Given the description of an element on the screen output the (x, y) to click on. 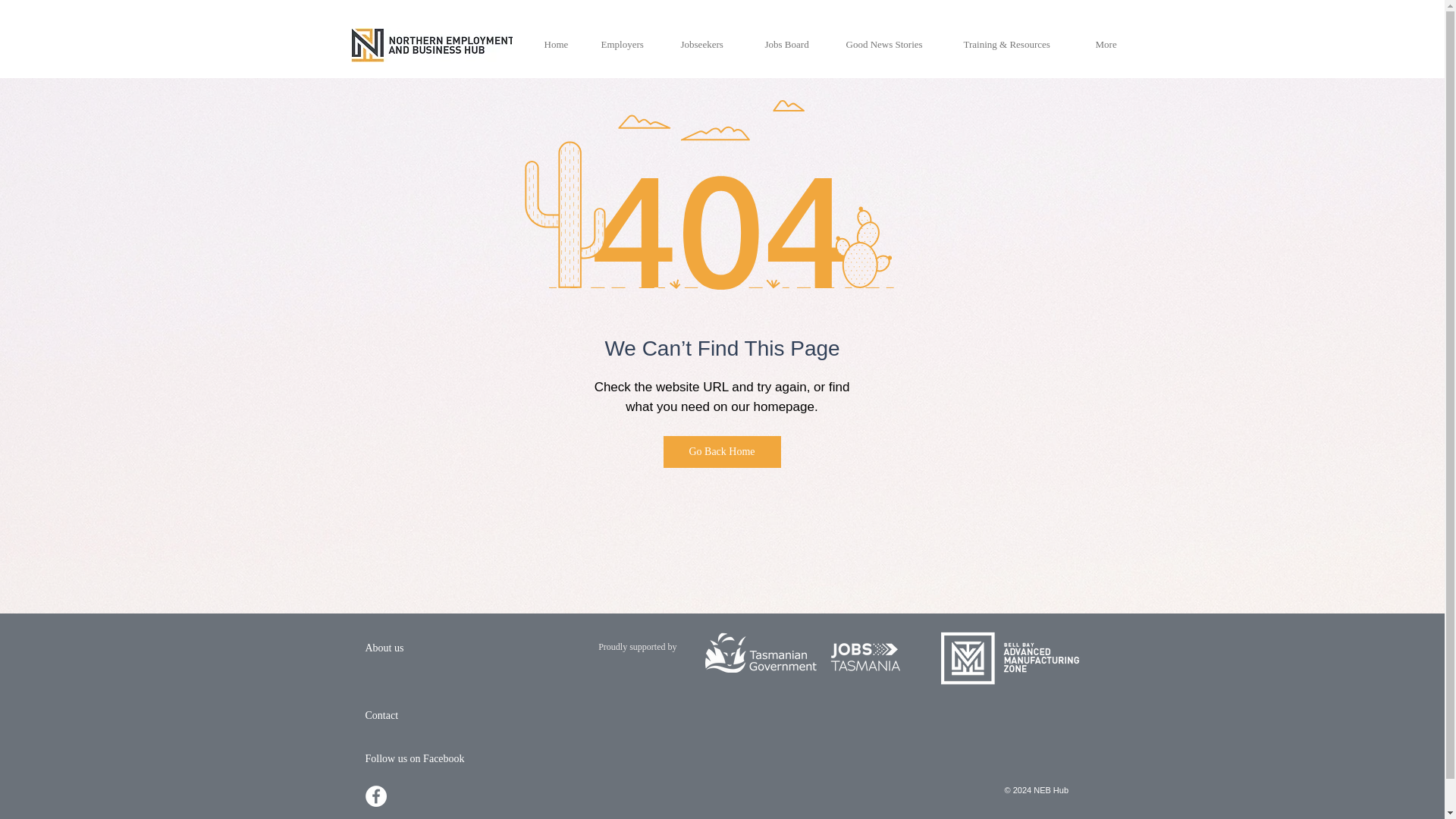
Jobseekers (710, 44)
Jobs Board (794, 44)
Contact (381, 715)
Home (560, 44)
Go Back Home (721, 451)
About us (384, 647)
Follow us on Facebook (414, 758)
Employers (629, 44)
Good News Stories (893, 44)
